Given the description of an element on the screen output the (x, y) to click on. 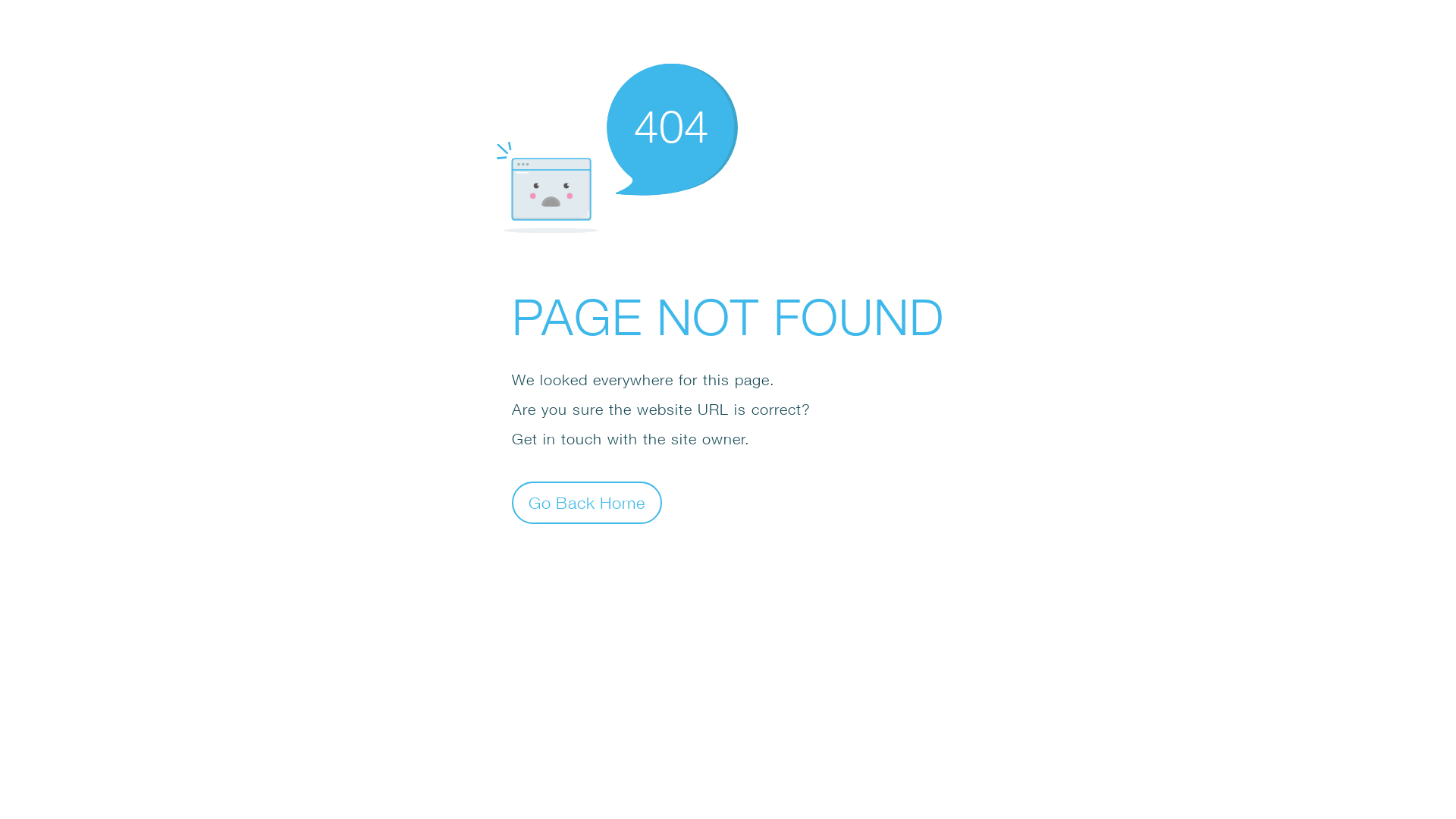
Go Back Home Element type: text (586, 502)
